Given the description of an element on the screen output the (x, y) to click on. 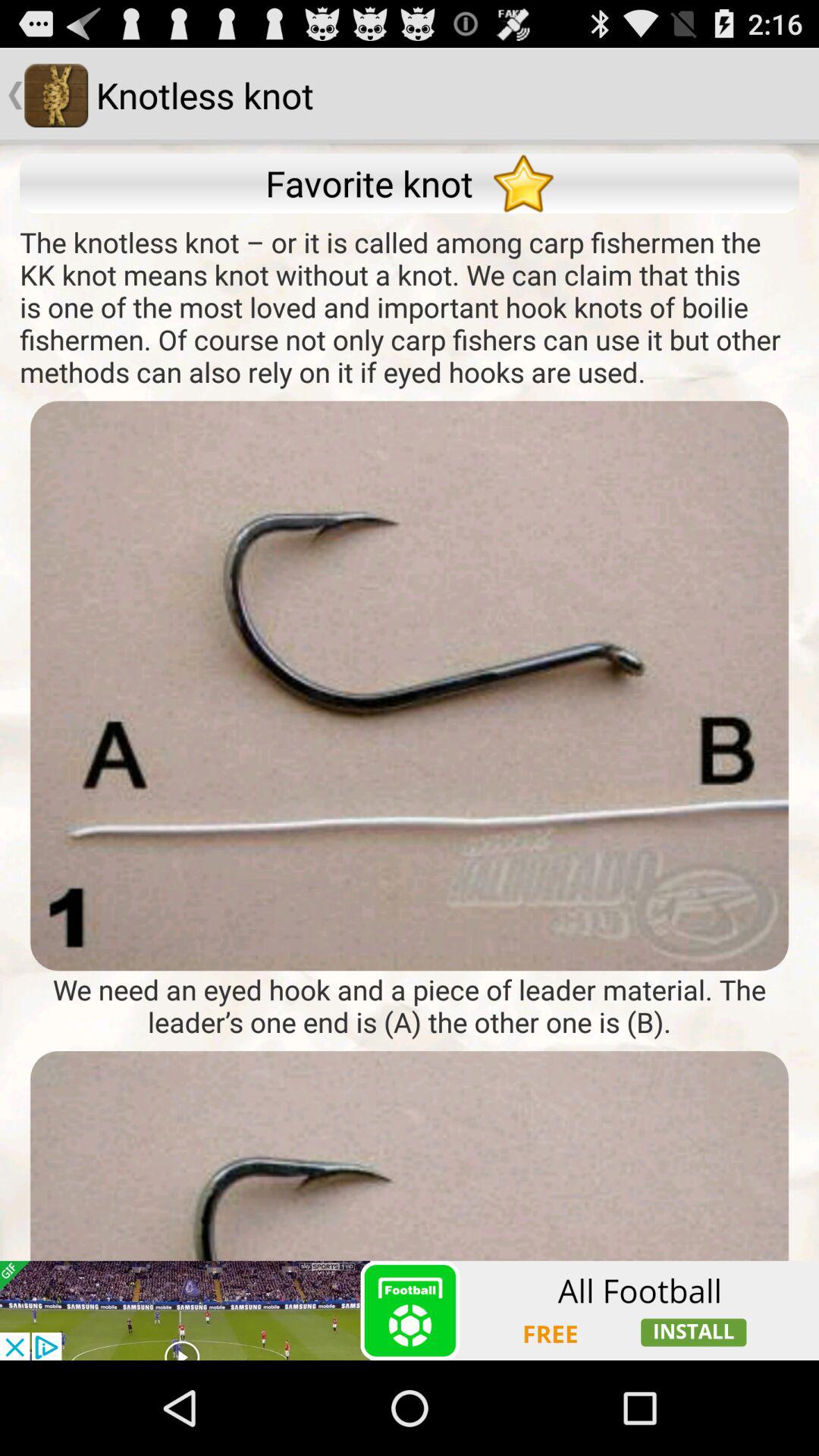
click an advertisement (409, 1310)
